Given the description of an element on the screen output the (x, y) to click on. 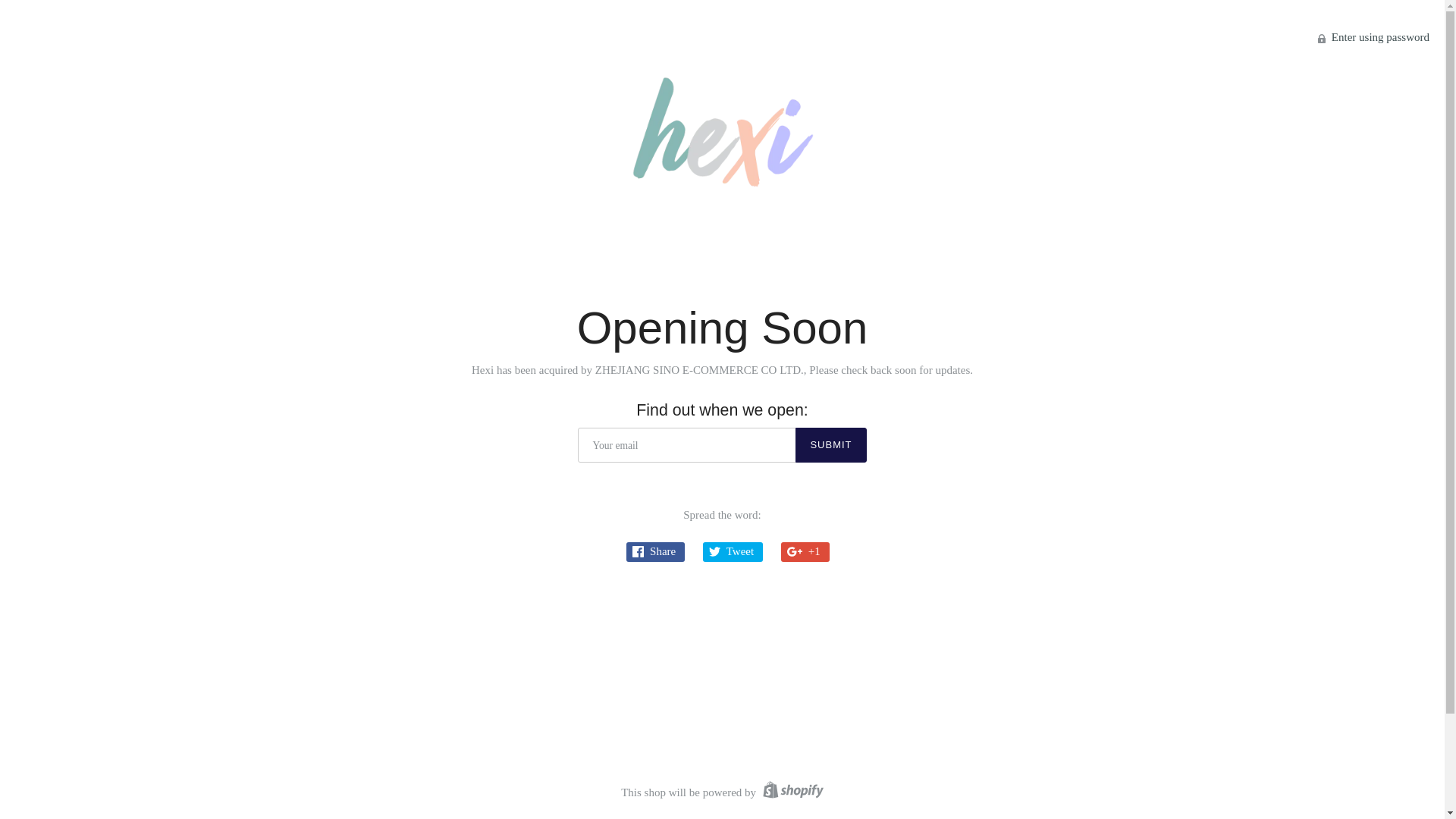
Lock icon Enter using password Element type: text (1373, 37)
GooglePlus +1 Element type: text (805, 551)
Facebook Share Element type: text (655, 551)
Submit Element type: text (830, 444)
Twitter Tweet Element type: text (732, 551)
Shopify logo Element type: text (791, 792)
